Given the description of an element on the screen output the (x, y) to click on. 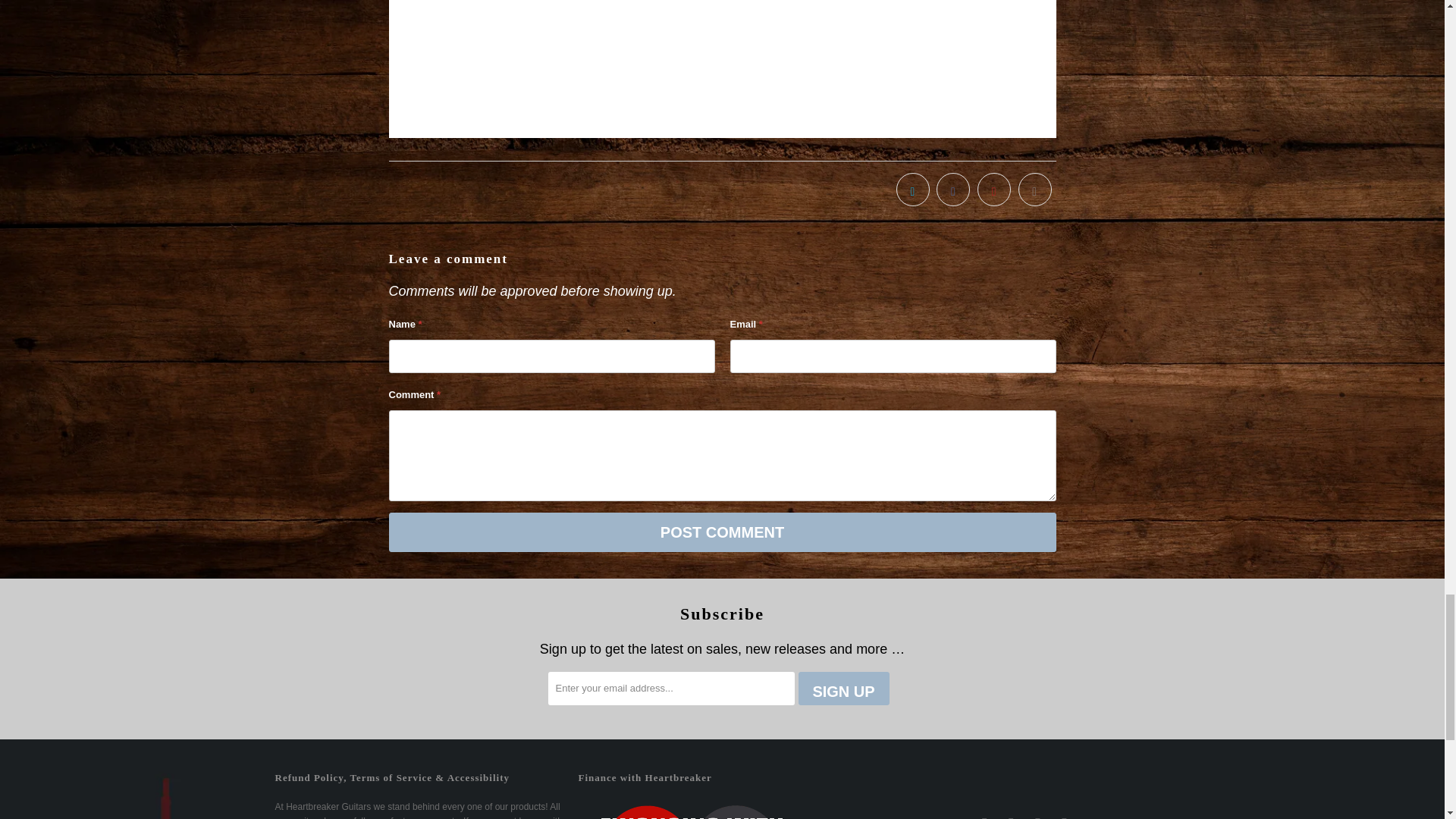
Share this on Facebook (952, 189)
Share this on Twitter (913, 189)
Post comment (721, 532)
Sign Up (842, 688)
